Given the description of an element on the screen output the (x, y) to click on. 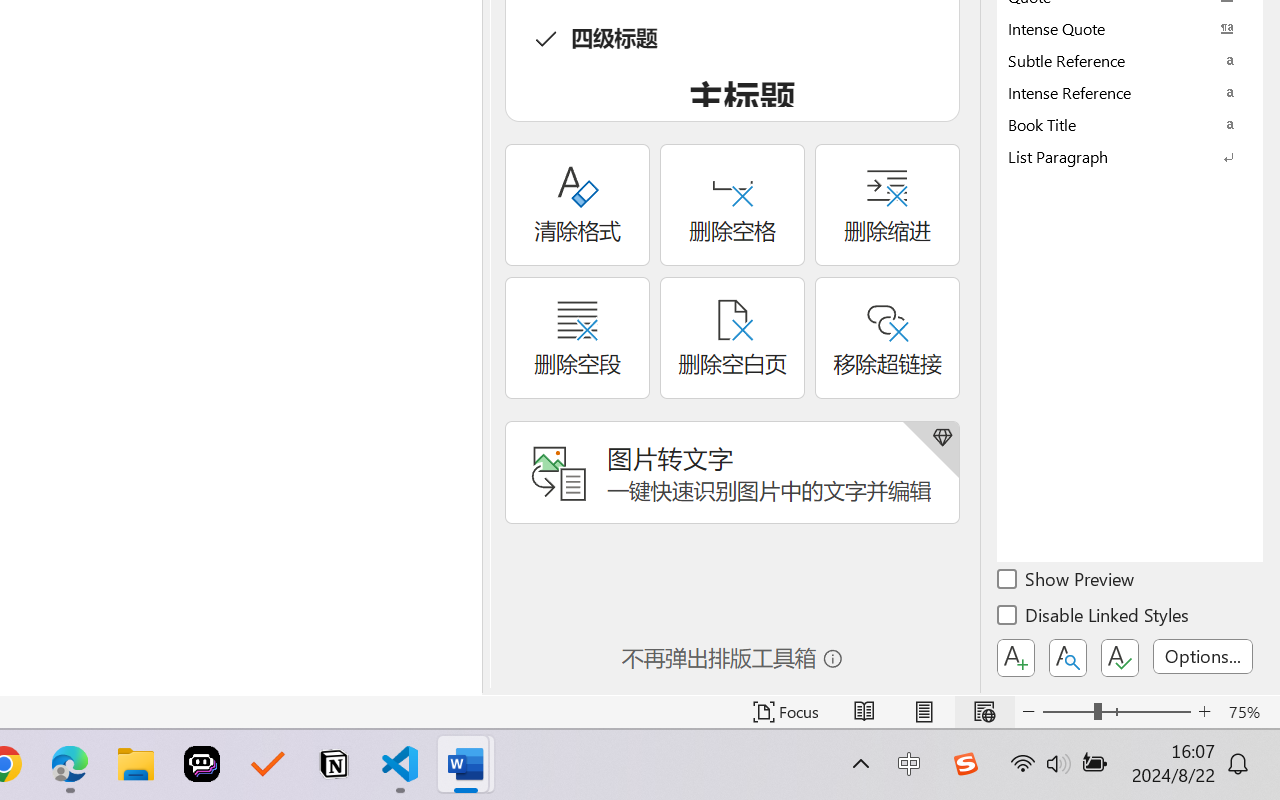
Zoom In (1204, 712)
